Given the description of an element on the screen output the (x, y) to click on. 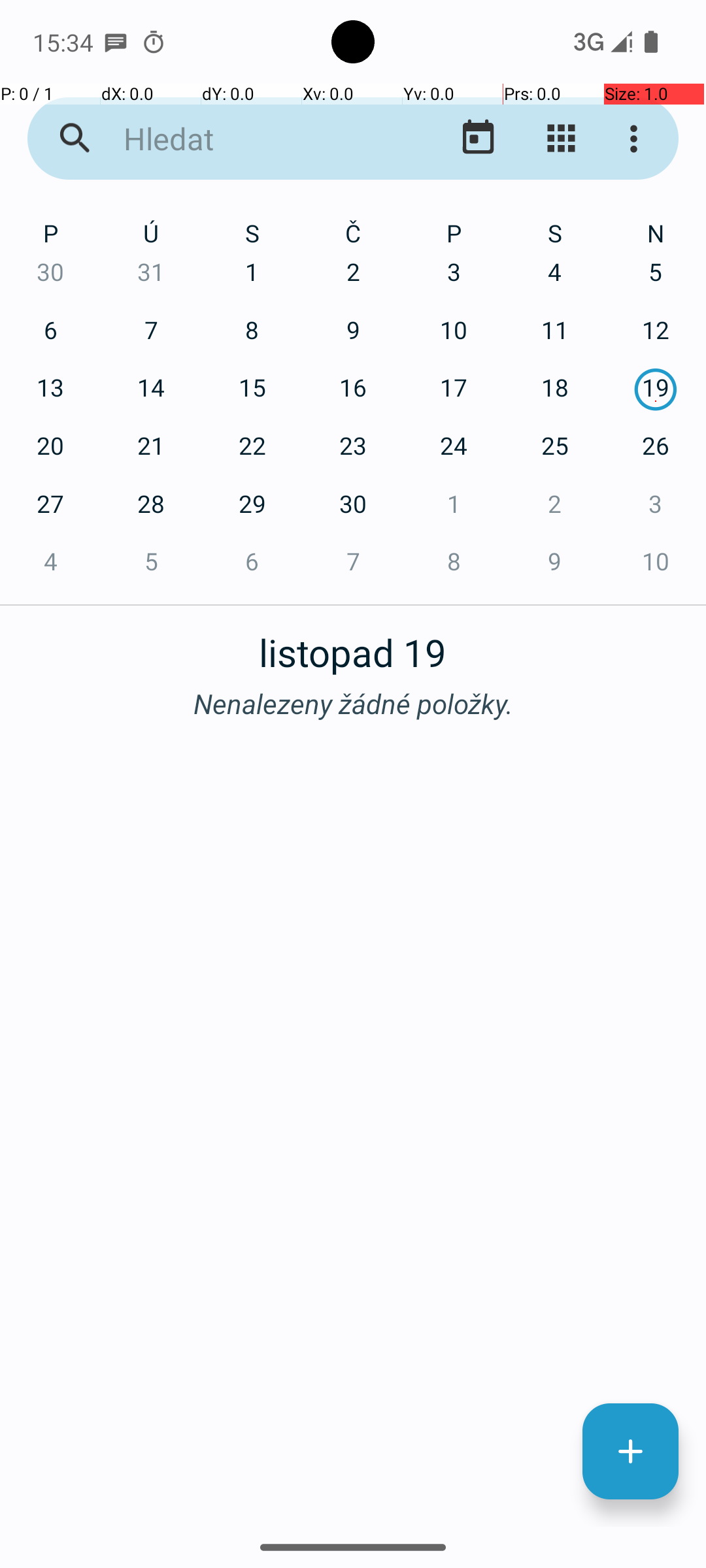
listopad 19 Element type: android.widget.TextView (352, 644)
Nenalezeny žádné položky. Element type: android.widget.TextView (352, 702)
SMS Messenger notification: +17247648679 Element type: android.widget.ImageView (115, 41)
